Given the description of an element on the screen output the (x, y) to click on. 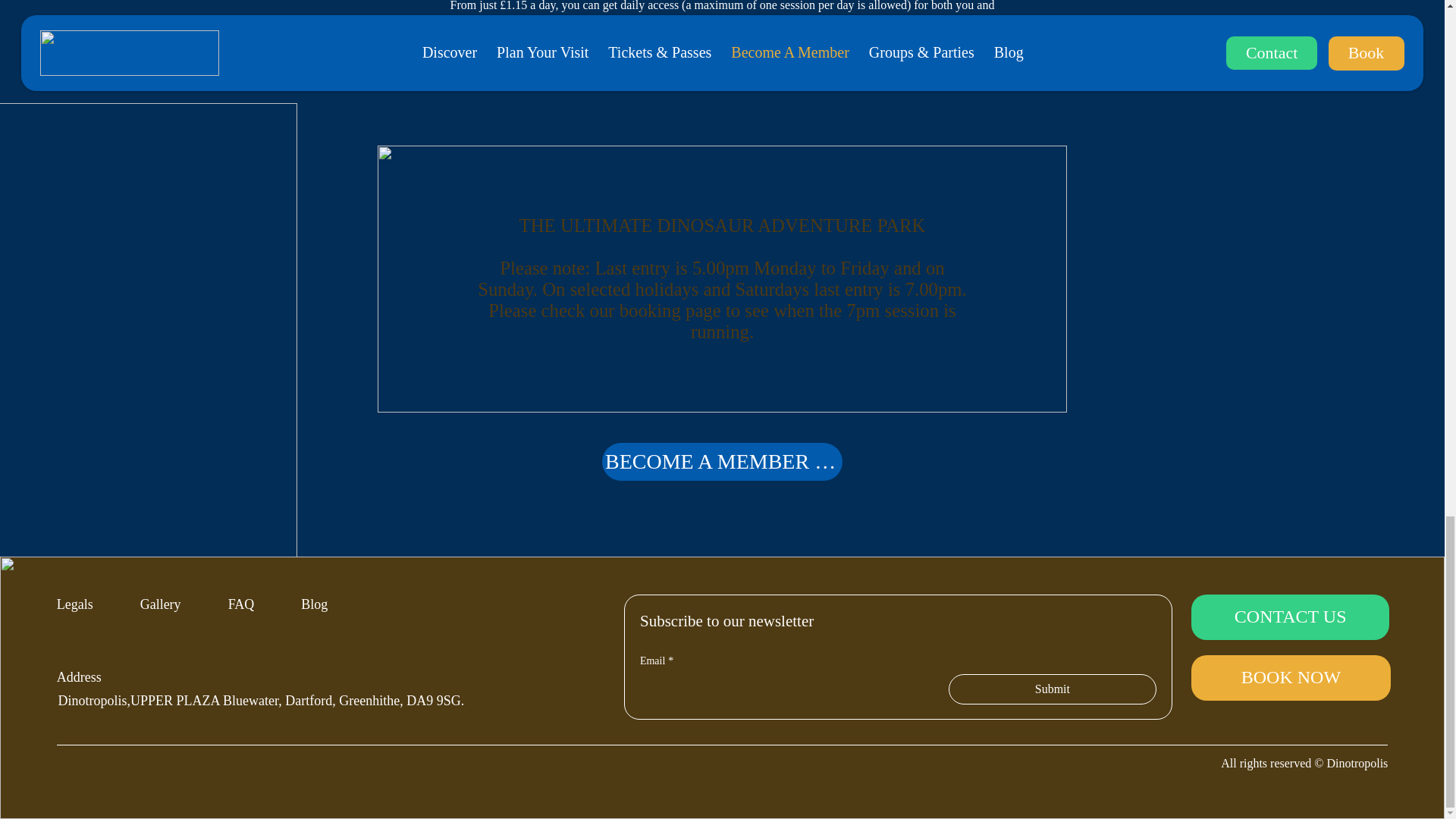
BECOME A MEMBER HERE (722, 461)
CONTACT US (1290, 616)
Blog (314, 604)
BOOK NOW (1290, 678)
Submit (1053, 689)
Gallery (159, 604)
FAQ (241, 604)
Legals (74, 604)
